Given the description of an element on the screen output the (x, y) to click on. 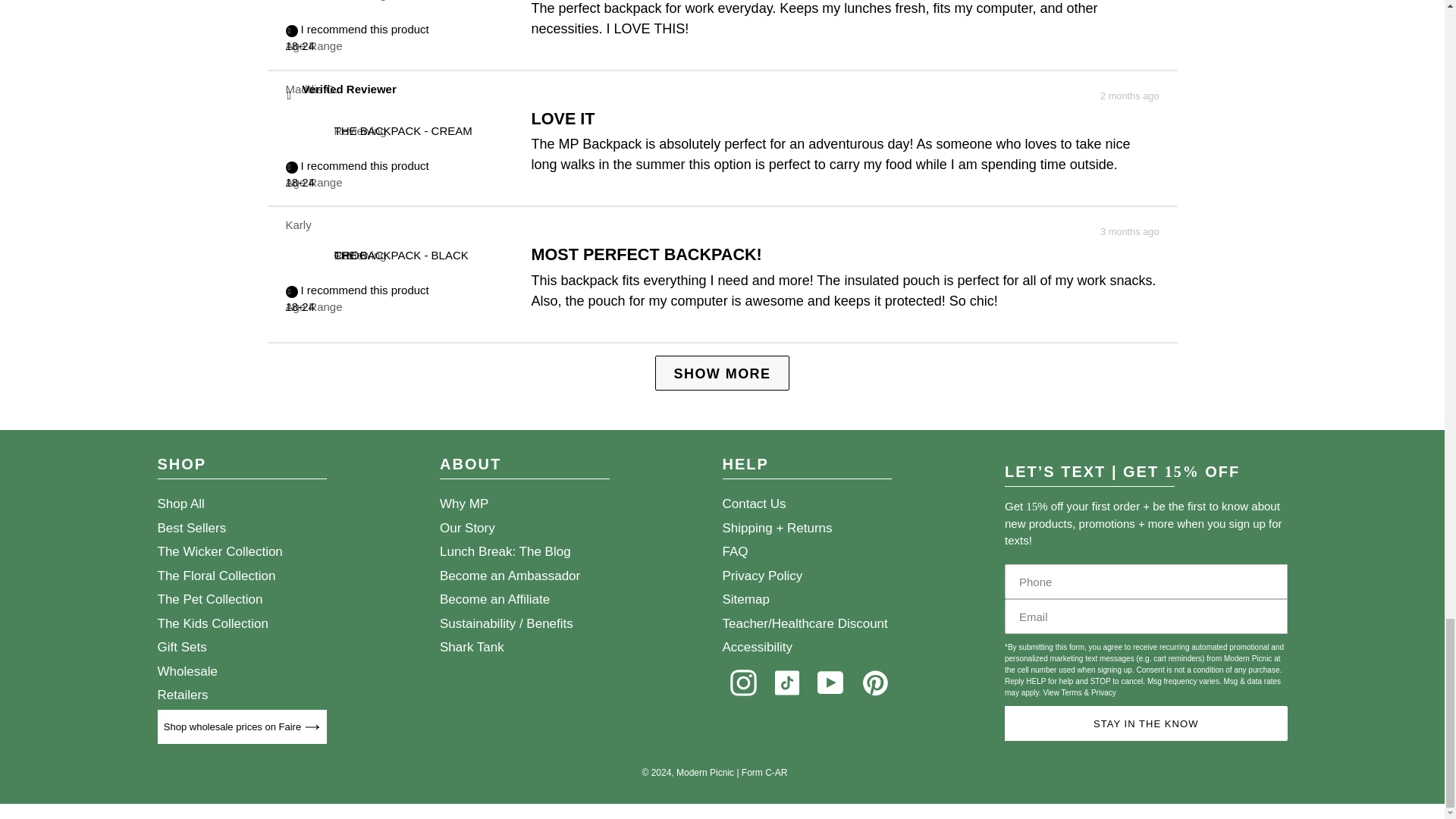
Modern Picnic on Pinterest (875, 682)
Modern Picnic on Tiktok (786, 682)
Modern Picnic on Instagram (742, 682)
Modern Picnic on YouTube (830, 682)
